Given the description of an element on the screen output the (x, y) to click on. 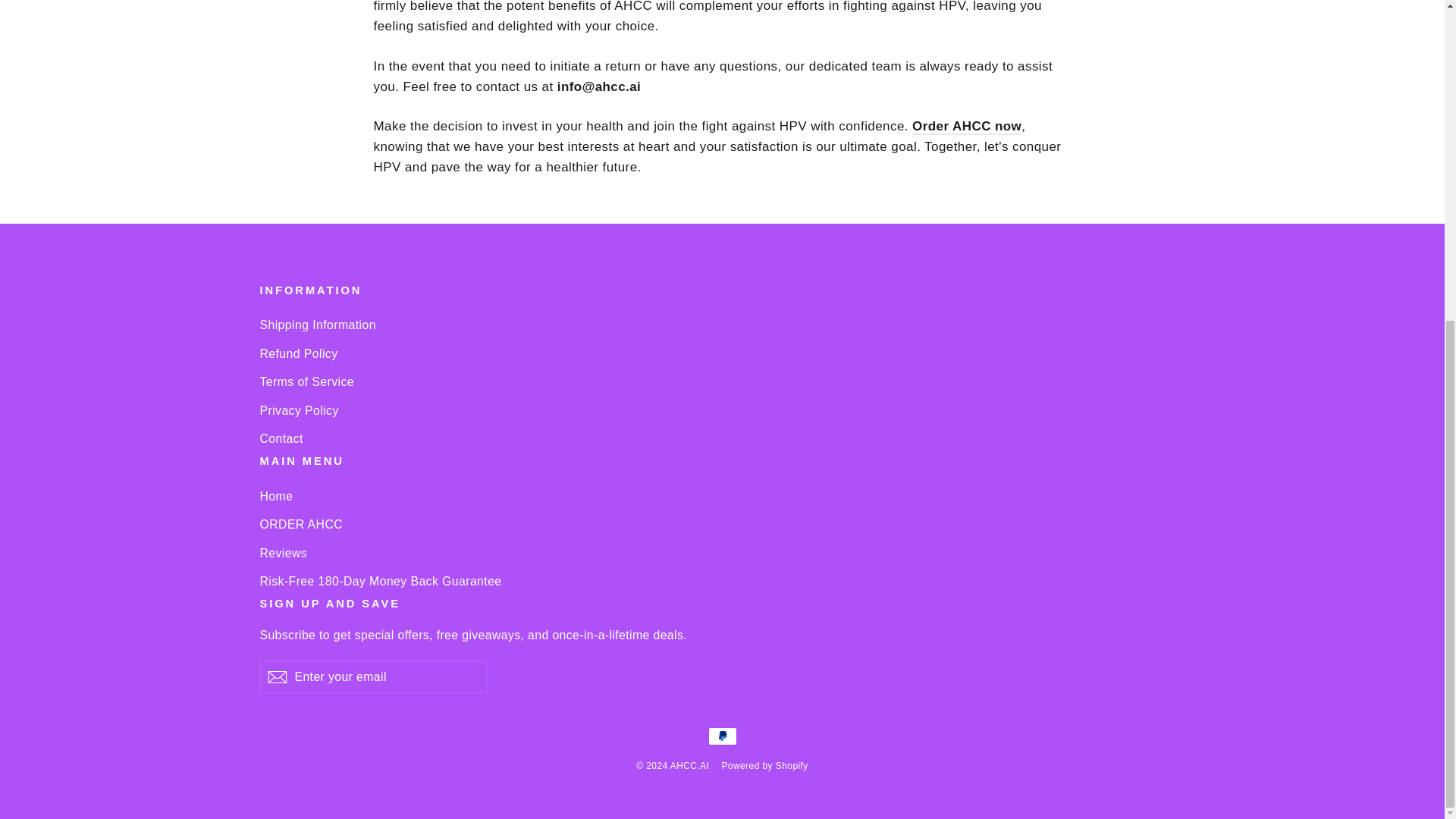
Powered by Shopify (764, 765)
Shipping Information (722, 324)
Contact (722, 438)
Order AHCC now (967, 126)
Refund Policy (722, 353)
Reviews (722, 552)
Risk-Free 180-Day Money Back Guarantee (722, 580)
Privacy Policy (722, 410)
PayPal (721, 736)
icon-email (276, 677)
